Given the description of an element on the screen output the (x, y) to click on. 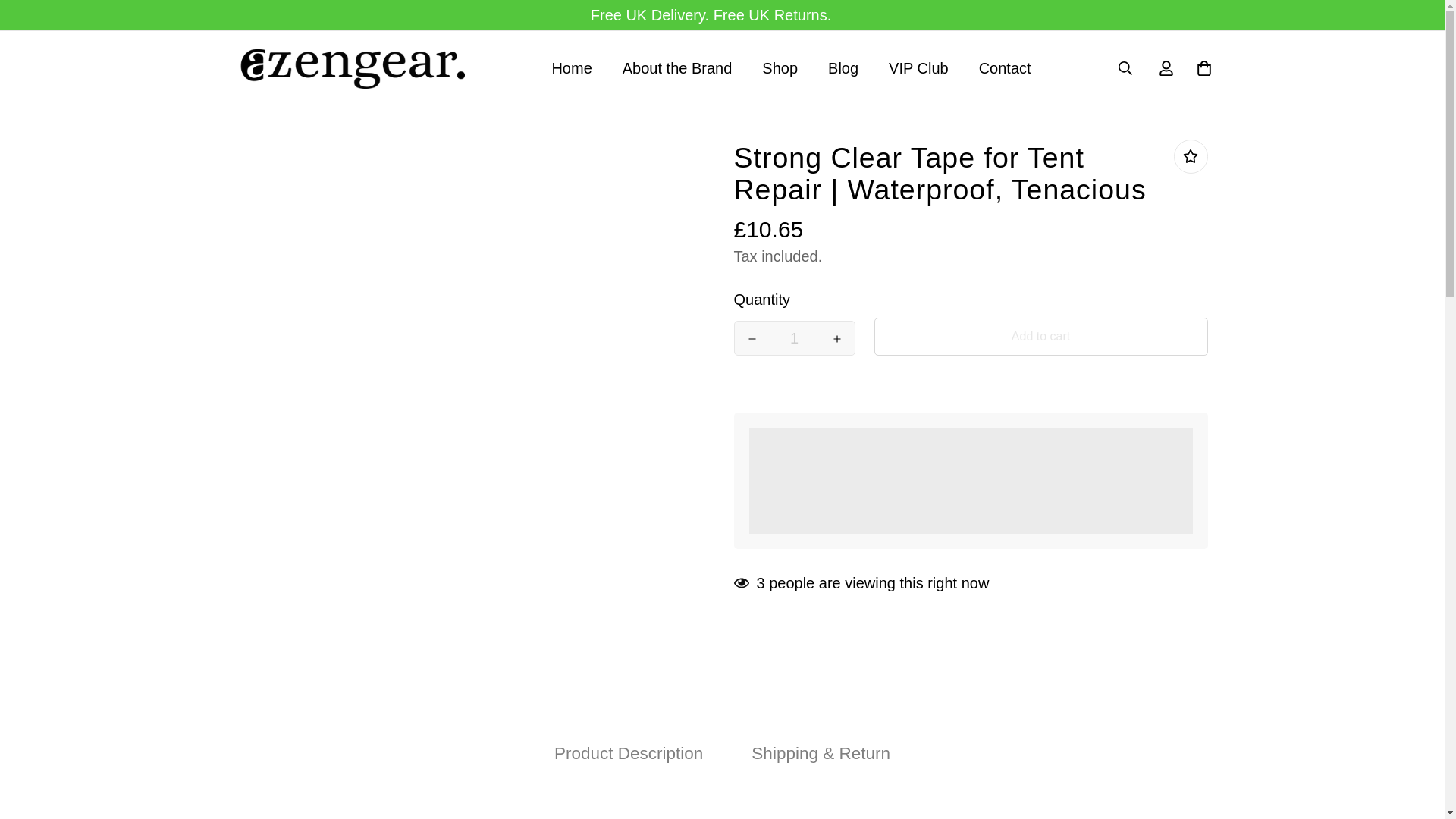
1 (790, 68)
VIP Club (790, 68)
Contact (793, 337)
Shop (918, 68)
Home (1004, 68)
Blog (779, 68)
About the Brand (571, 68)
aZengear (842, 68)
